Given the description of an element on the screen output the (x, y) to click on. 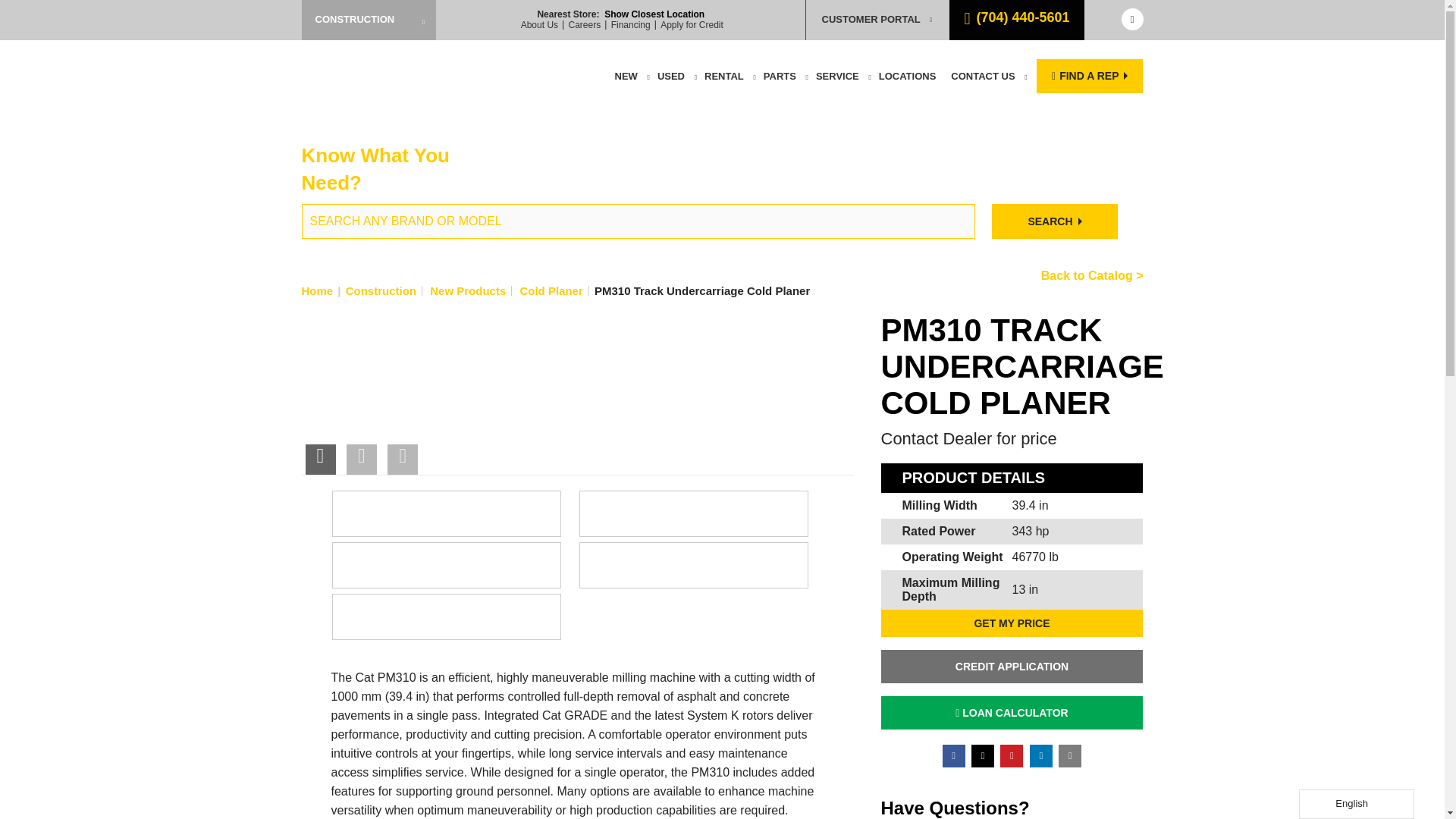
GET MY PRICE (1011, 623)
RENTAL (724, 75)
About Us (539, 24)
Apply for Credit (692, 24)
Careers (585, 24)
Show Closest Location (654, 14)
USED (671, 75)
PARTS (779, 75)
Financing (630, 24)
NEW (626, 75)
